Given the description of an element on the screen output the (x, y) to click on. 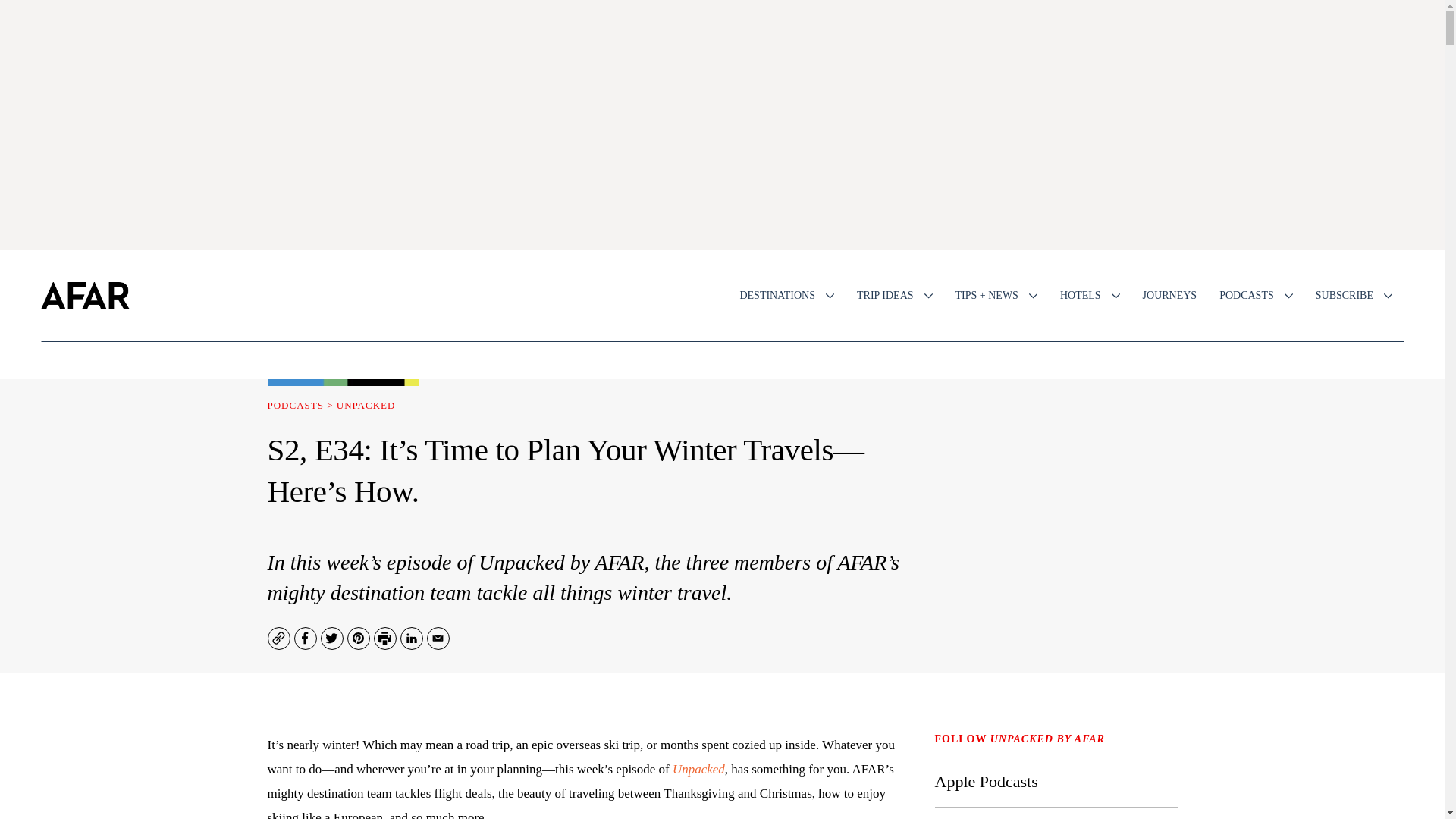
S2, E34: How to Plan Your Winter 2024 Travels -  AFAR (330, 405)
Apple Podcasts  (985, 781)
